Given the description of an element on the screen output the (x, y) to click on. 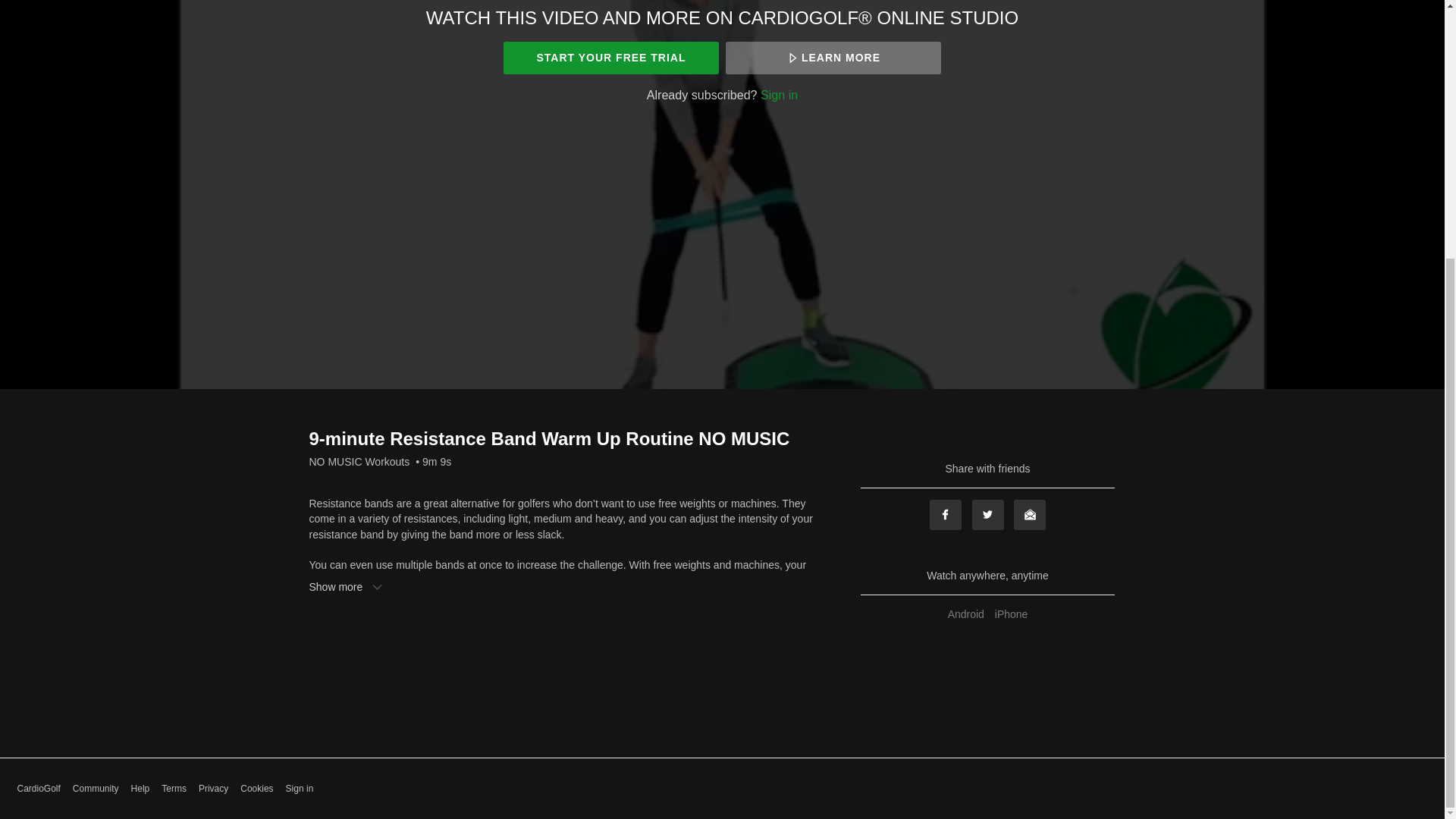
Cookies (256, 788)
Sign in (778, 94)
Help (140, 788)
Sign in (299, 788)
LEARN MORE (832, 57)
Facebook (945, 514)
Android (965, 613)
Twitter (988, 514)
iPhone (1011, 613)
Terms (173, 788)
Privacy (213, 788)
START YOUR FREE TRIAL (610, 57)
CardioGolf (37, 788)
NO MUSIC Workouts (359, 461)
Email (1029, 514)
